Given the description of an element on the screen output the (x, y) to click on. 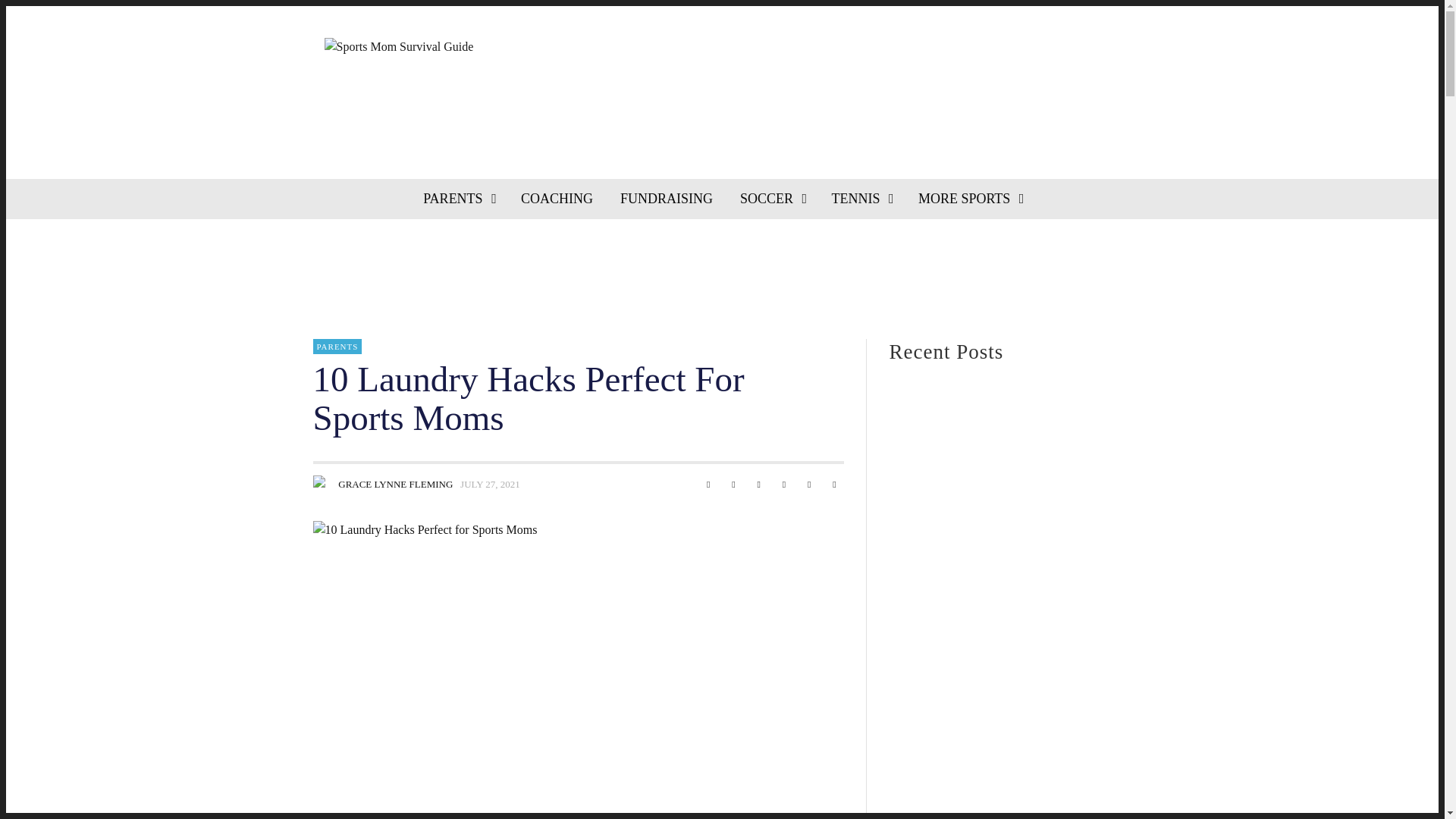
View all posts in Parents (337, 346)
SOCCER (771, 199)
FUNDRAISING (666, 199)
COACHING (556, 199)
Posts by Grace Lynne Fleming (321, 484)
Permalink to 10 Laundry Hacks Perfect for Sports Moms (489, 483)
PARENTS (457, 199)
